Given the description of an element on the screen output the (x, y) to click on. 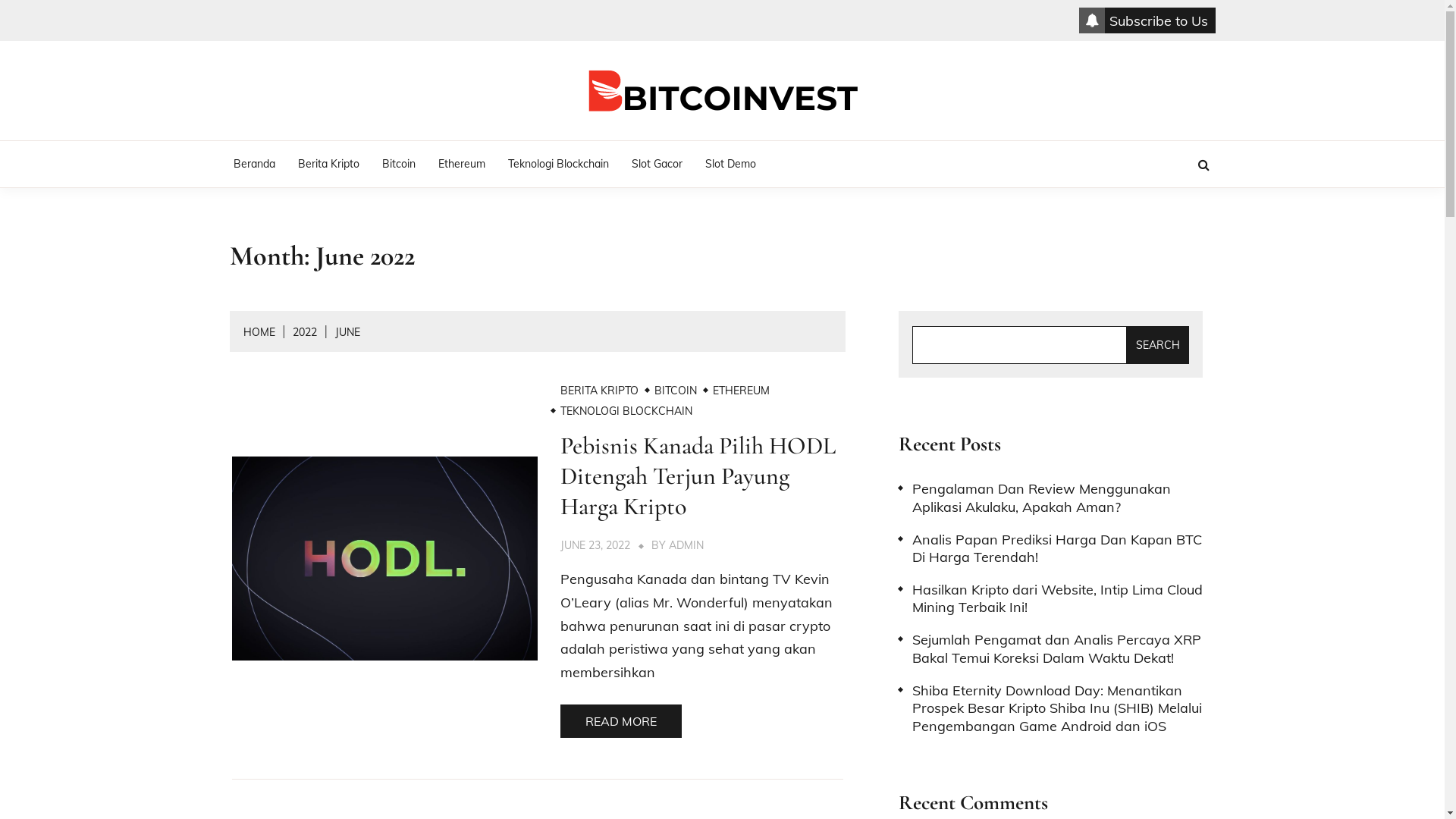
JUNE 23, 2022 Element type: text (595, 545)
ETHEREUM Element type: text (740, 390)
SEARCH Element type: text (1157, 345)
BITCOINVEST.CC Element type: text (811, 152)
Bitcoin Element type: text (397, 164)
BITCOIN Element type: text (675, 390)
Beranda Element type: text (253, 164)
JUNE Element type: text (347, 331)
Analis Papan Prediksi Harga Dan Kapan BTC Di Harga Terendah! Element type: text (1050, 548)
Subscribe to Us Element type: text (1146, 20)
Berita Kripto Element type: text (328, 164)
Slot Demo Element type: text (729, 164)
TEKNOLOGI BLOCKCHAIN Element type: text (626, 410)
HOME Element type: text (258, 331)
Ethereum Element type: text (460, 164)
READ MORE Element type: text (620, 720)
ADMIN Element type: text (685, 545)
Teknologi Blockchain Element type: text (557, 164)
2022 Element type: text (304, 331)
BERITA KRIPTO Element type: text (599, 390)
Slot Gacor Element type: text (656, 164)
